Given the description of an element on the screen output the (x, y) to click on. 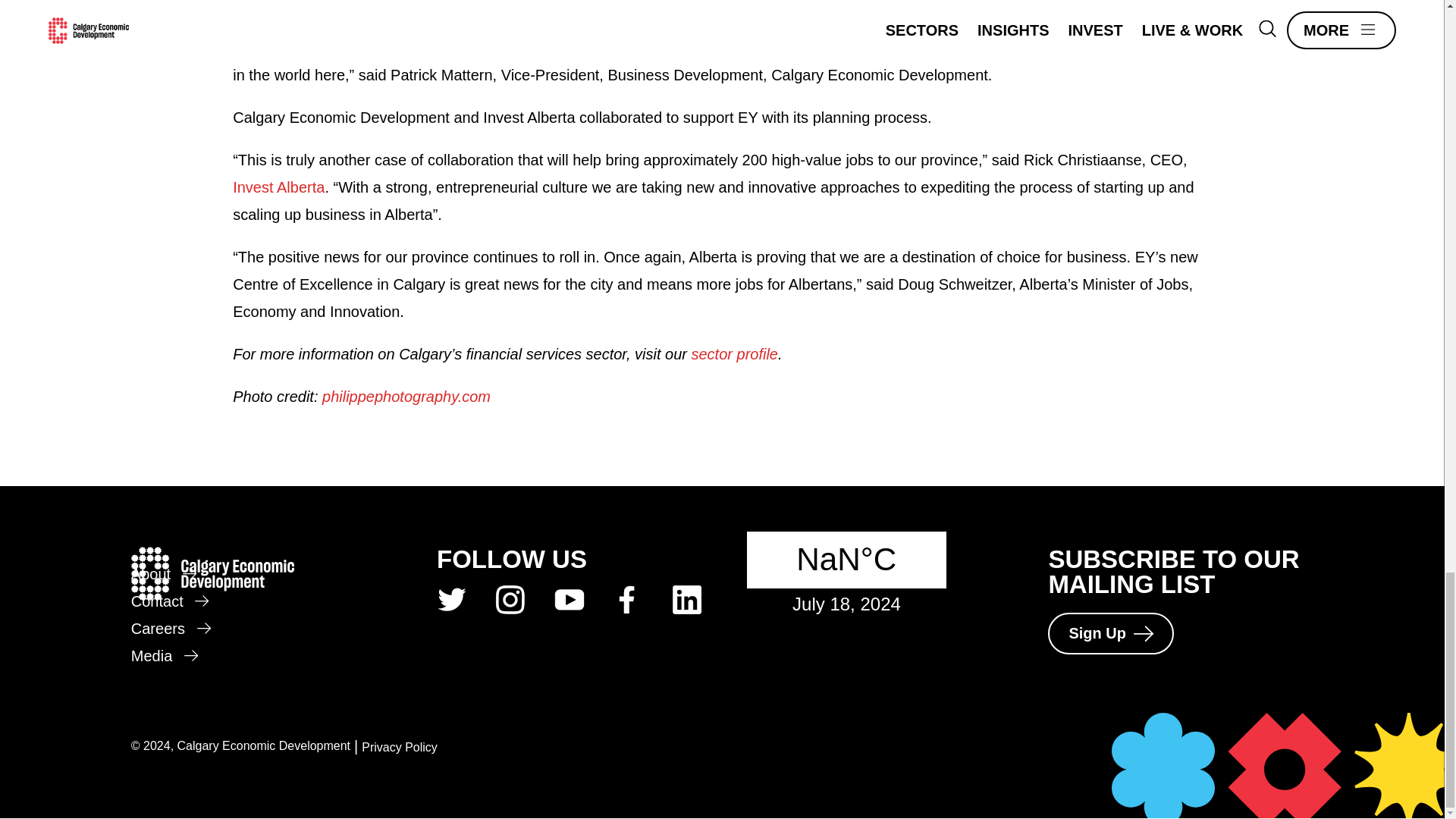
Invest Alberta (278, 187)
Financial Services Sector (734, 353)
Weather Widget (812, 550)
